Given the description of an element on the screen output the (x, y) to click on. 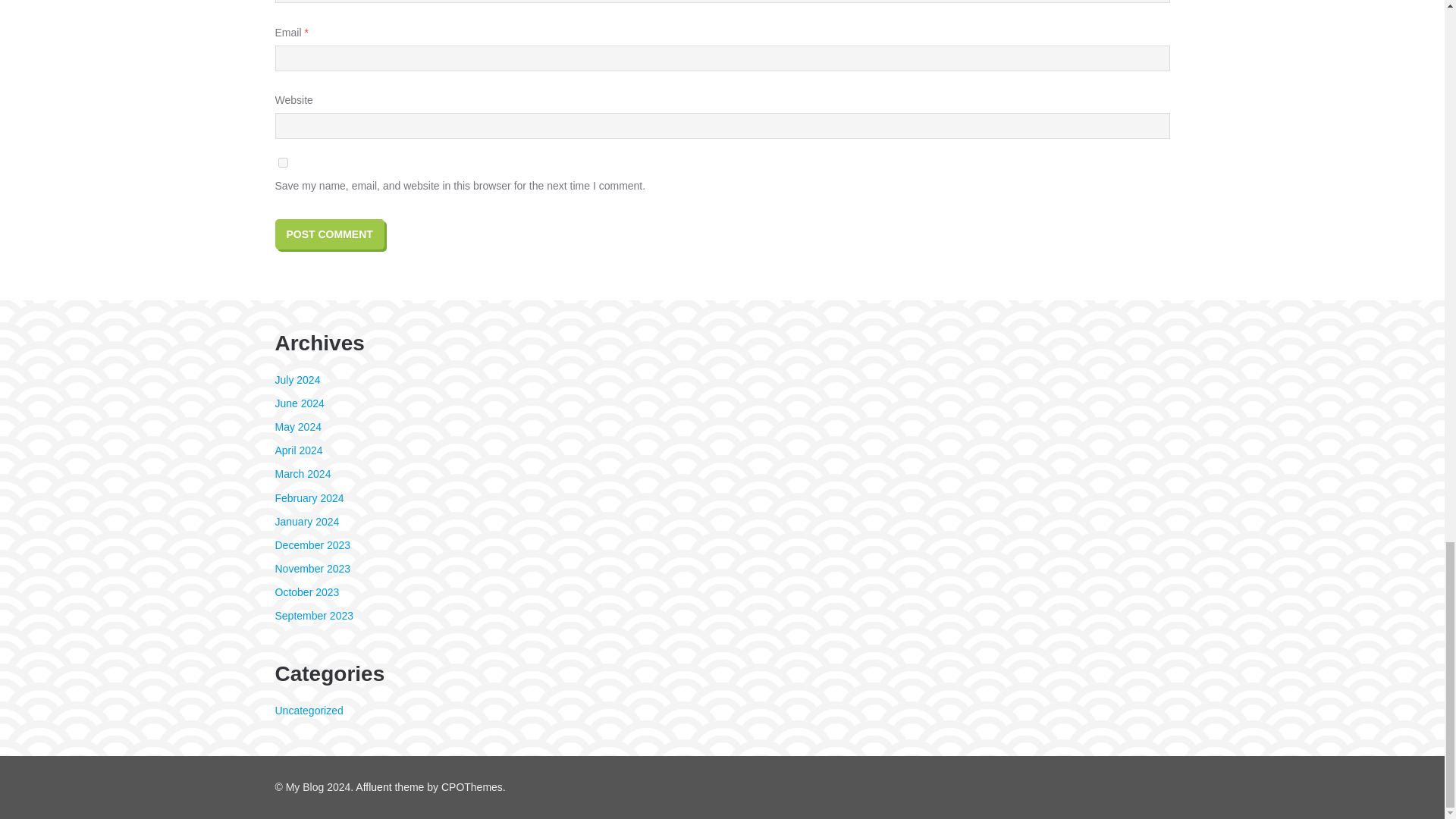
September 2023 (314, 615)
Affluent (373, 787)
March 2024 (302, 473)
October 2023 (307, 592)
Uncategorized (308, 710)
yes (282, 162)
January 2024 (307, 521)
November 2023 (312, 568)
June 2024 (299, 403)
Post Comment (329, 234)
Post Comment (329, 234)
April 2024 (298, 450)
February 2024 (309, 497)
May 2024 (297, 426)
July 2024 (297, 379)
